Given the description of an element on the screen output the (x, y) to click on. 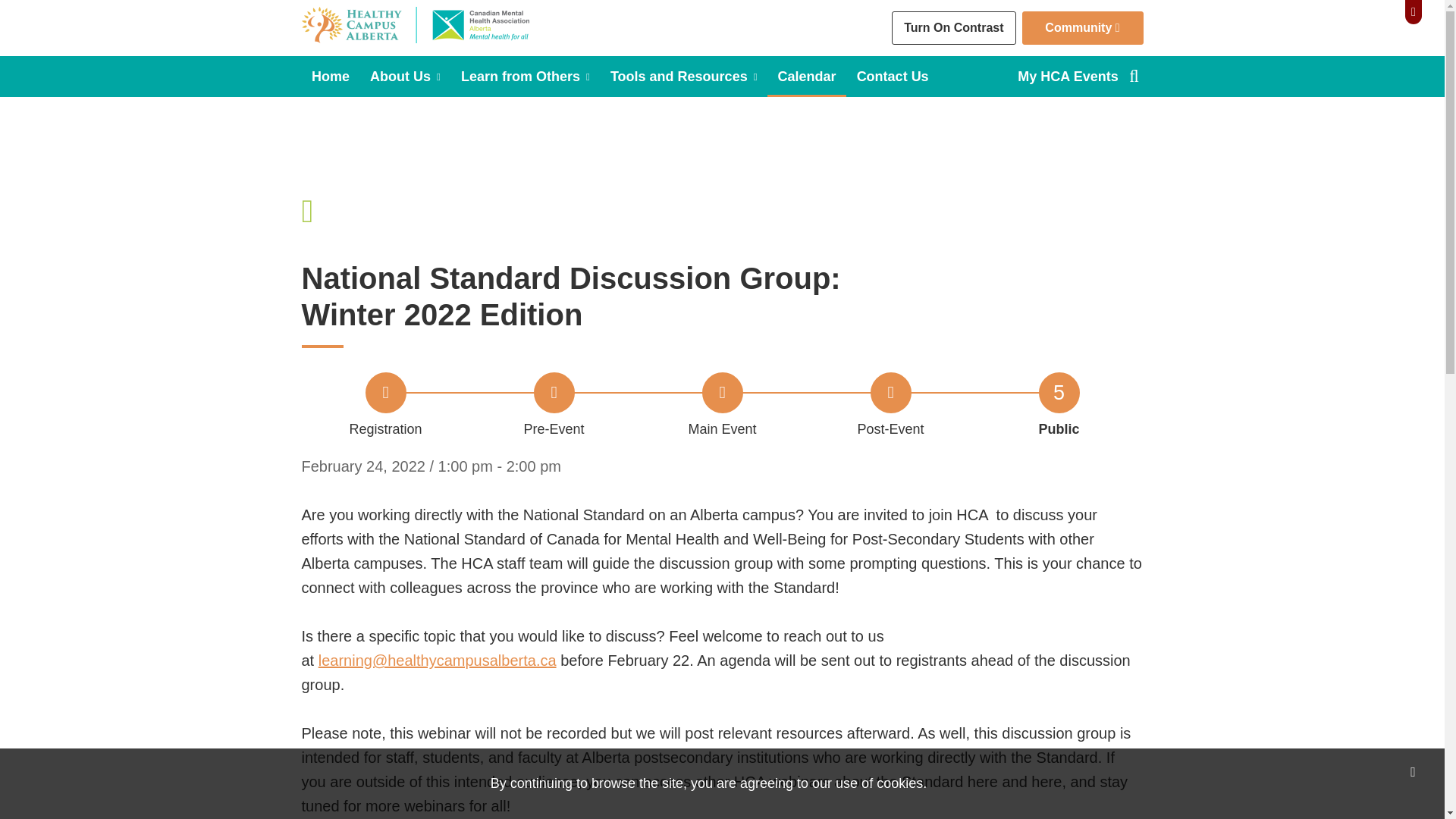
About Us (405, 76)
Learn from Others (524, 76)
Registration (1058, 412)
Main Event (385, 412)
Tools and Resources (722, 412)
Pre-Event (683, 76)
Close Tooltips (554, 412)
